Given the description of an element on the screen output the (x, y) to click on. 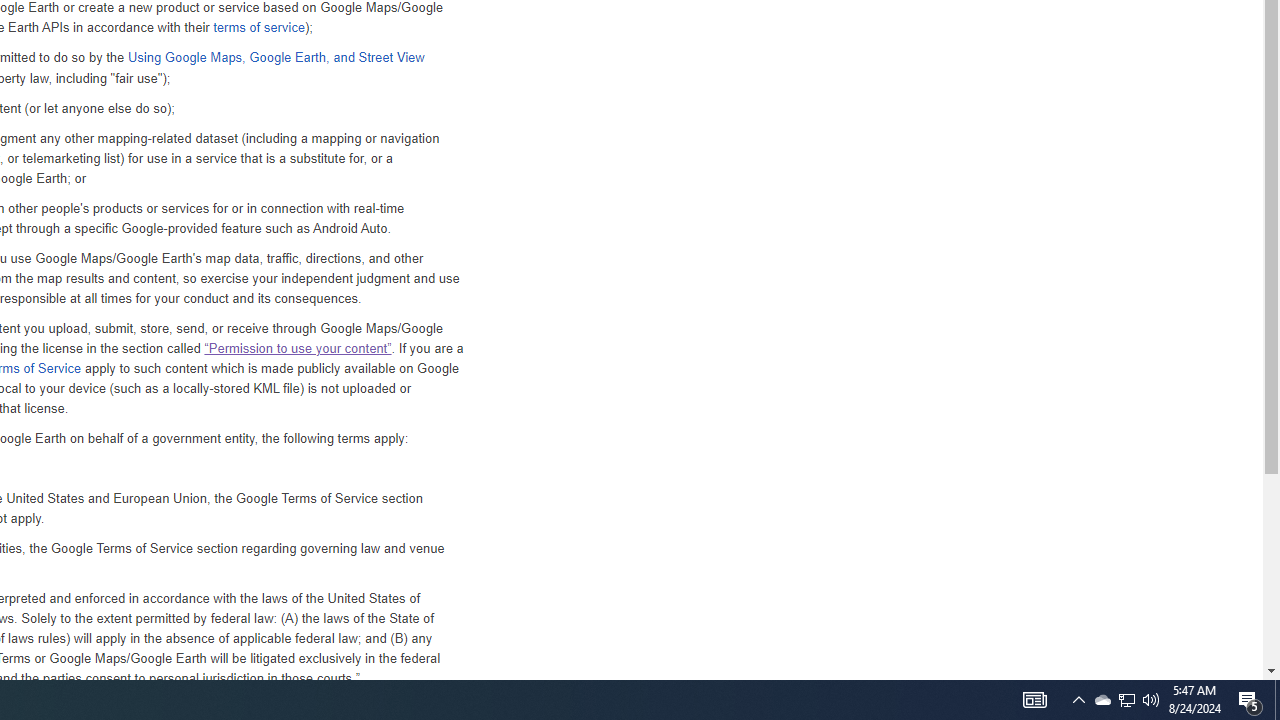
terms of service (258, 28)
Using Google Maps, Google Earth, and Street View (275, 57)
